Given the description of an element on the screen output the (x, y) to click on. 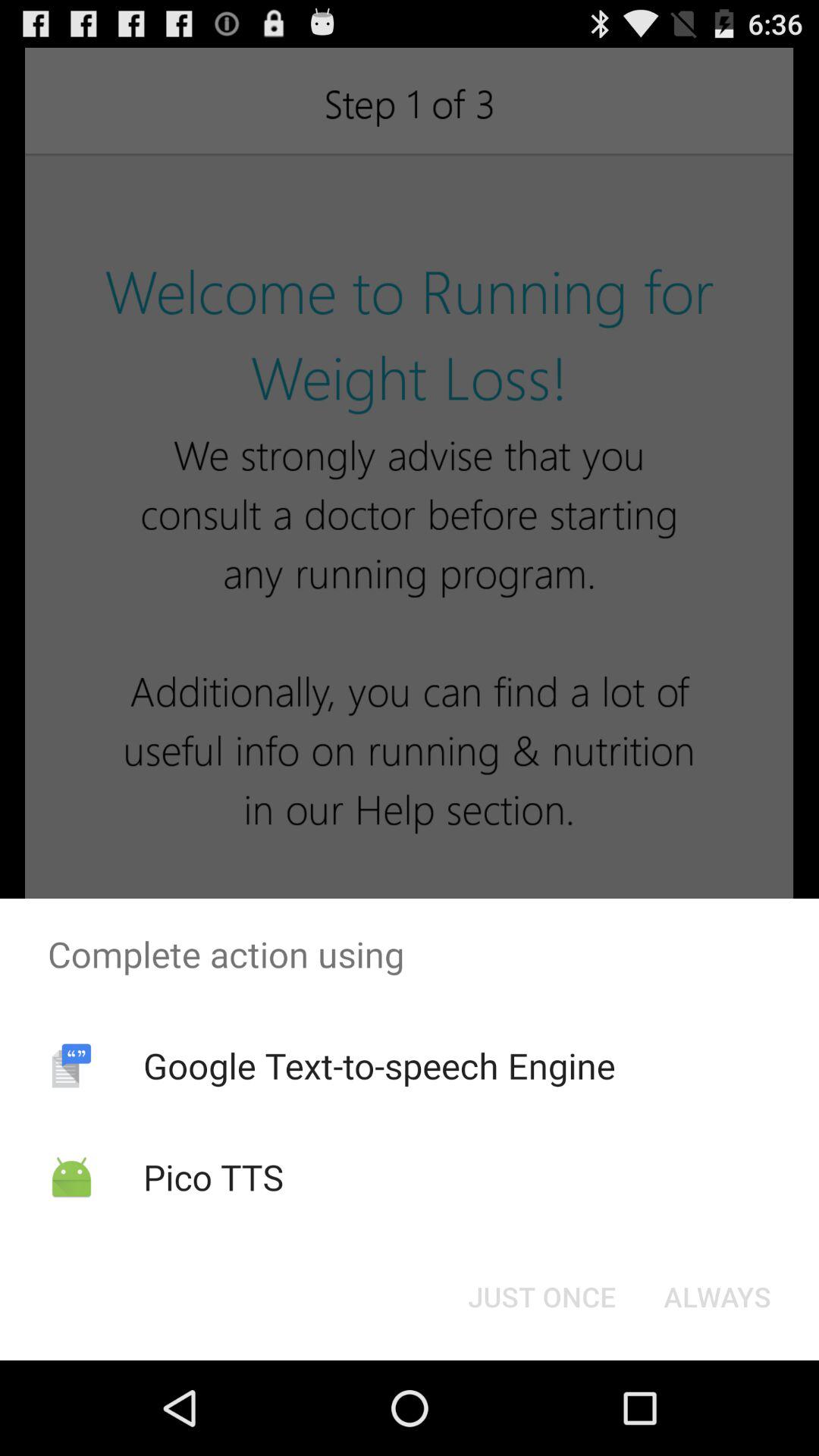
tap button next to the just once icon (717, 1296)
